Given the description of an element on the screen output the (x, y) to click on. 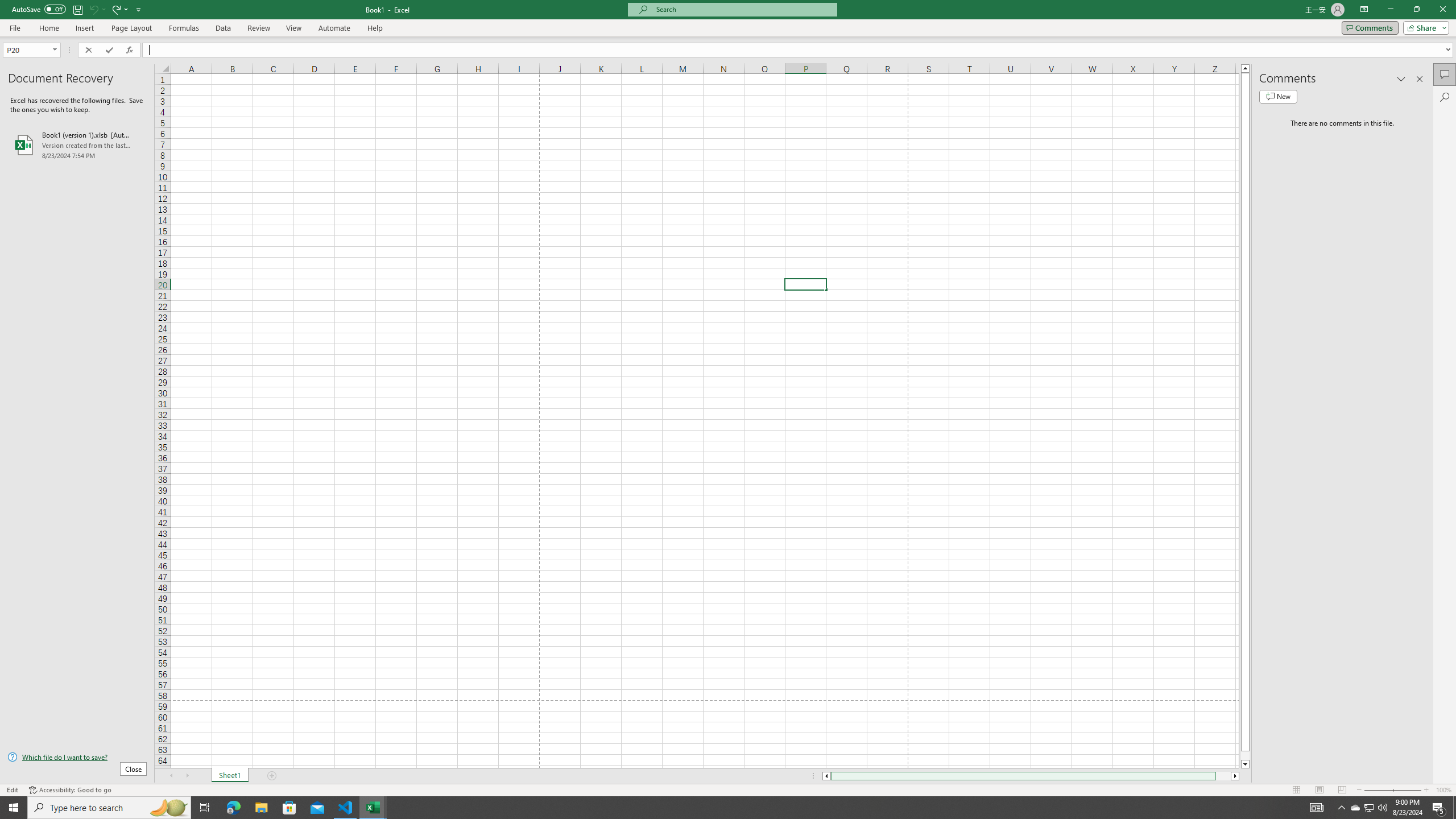
New comment (1278, 96)
